Given the description of an element on the screen output the (x, y) to click on. 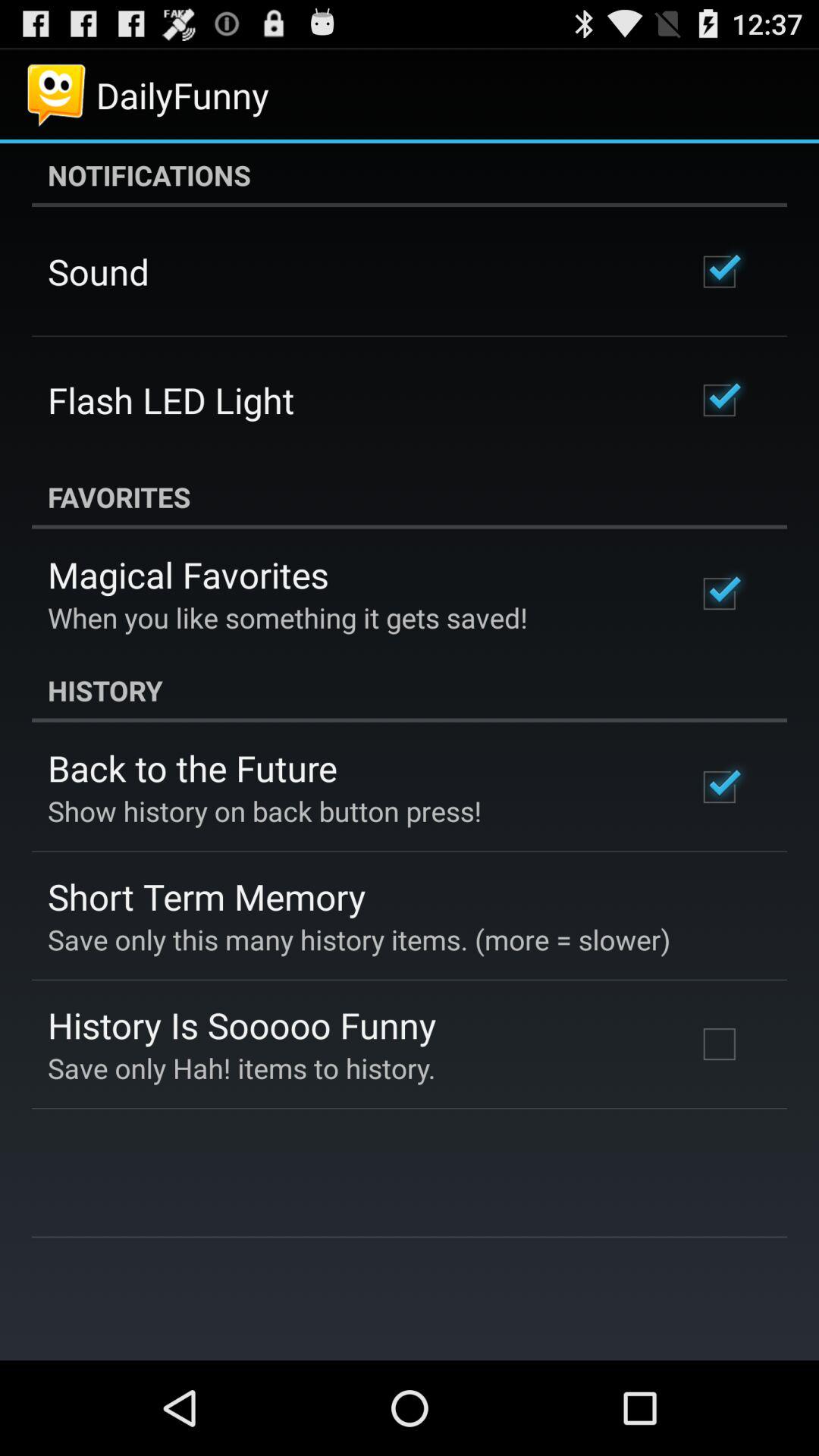
tap the app below the history (192, 767)
